Given the description of an element on the screen output the (x, y) to click on. 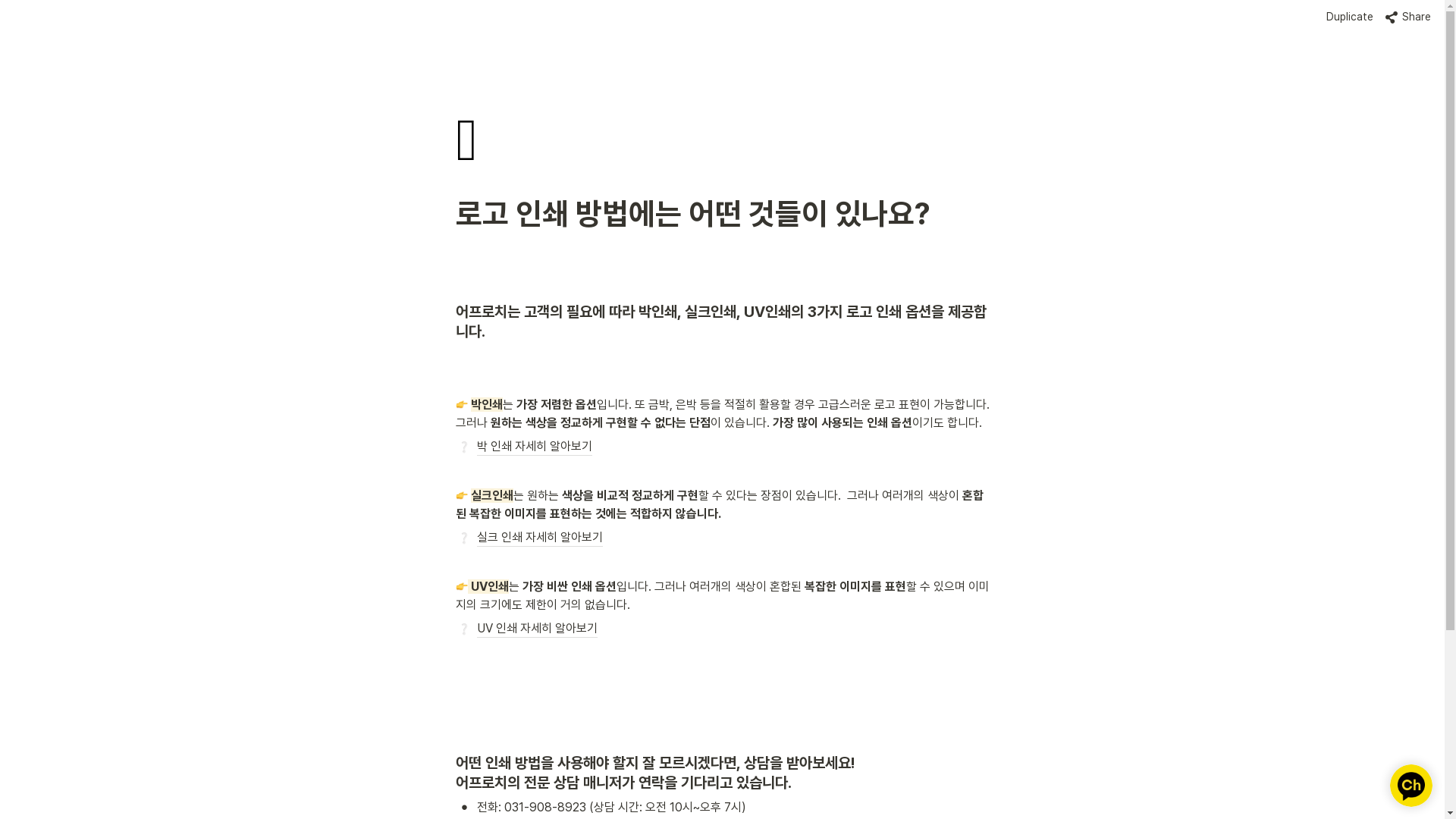
Duplicate Element type: text (1349, 16)
